Given the description of an element on the screen output the (x, y) to click on. 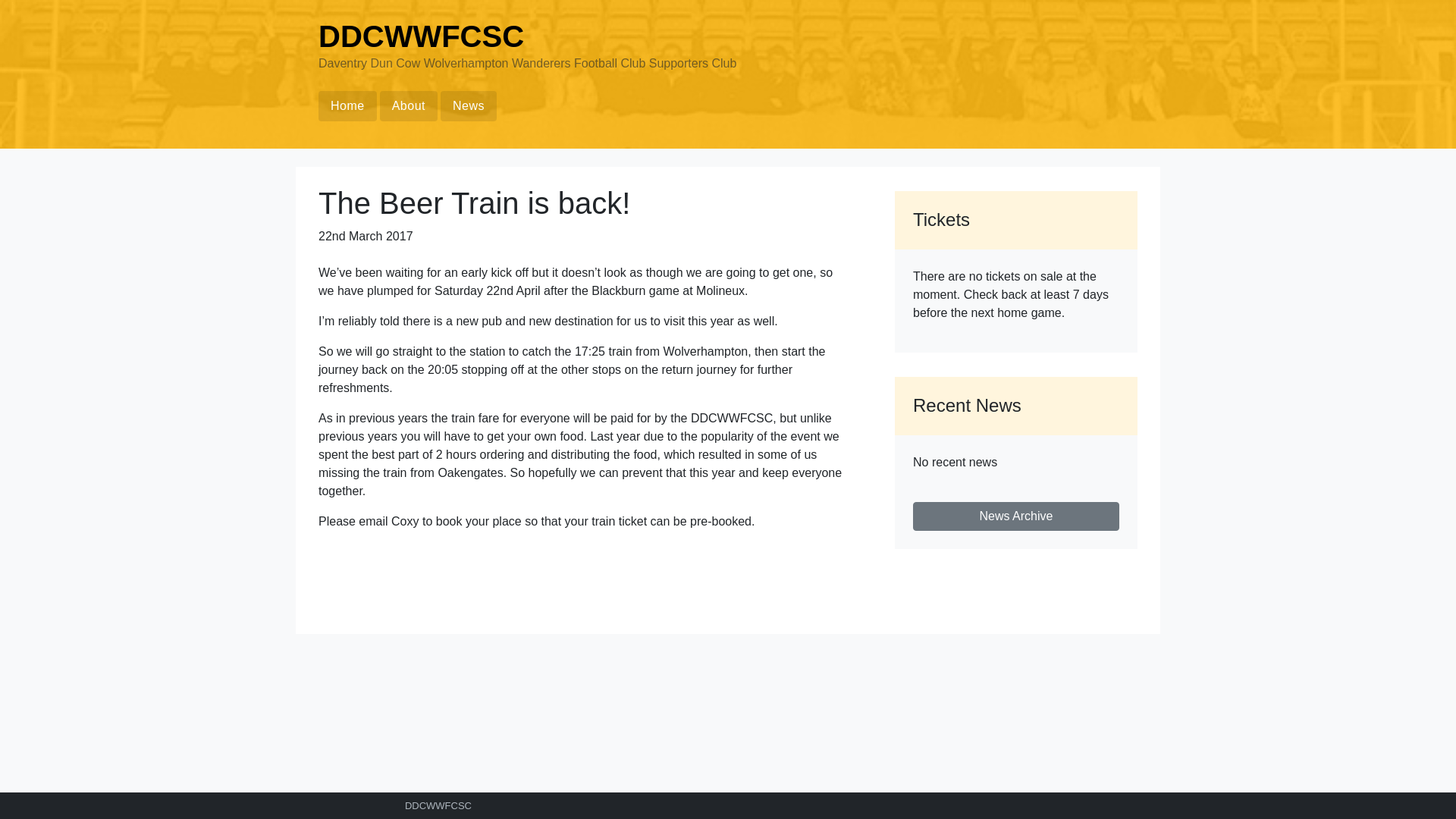
Home (347, 105)
About (409, 105)
DDCWWFCSC (421, 36)
News (468, 105)
News Archive (1015, 516)
